Given the description of an element on the screen output the (x, y) to click on. 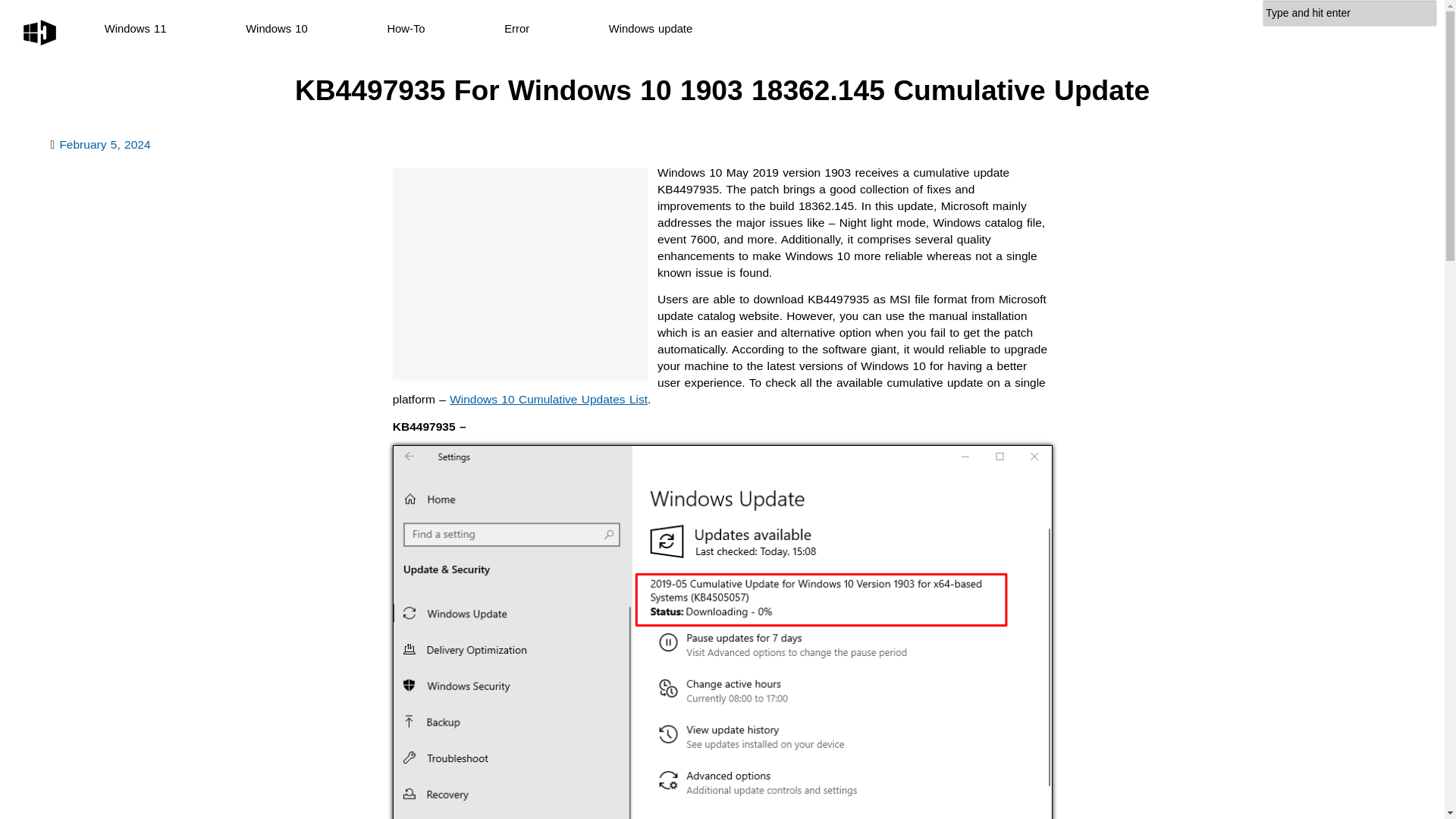
1707134801 (104, 144)
Advertisement (520, 274)
Windows 11 (136, 28)
February 5, 2024 (104, 144)
Type and hit enter (1349, 13)
Windows 10 (276, 28)
Windows update (650, 28)
Error (516, 28)
Windows 10 Cumulative Updates List (548, 399)
How-To (406, 28)
